Given the description of an element on the screen output the (x, y) to click on. 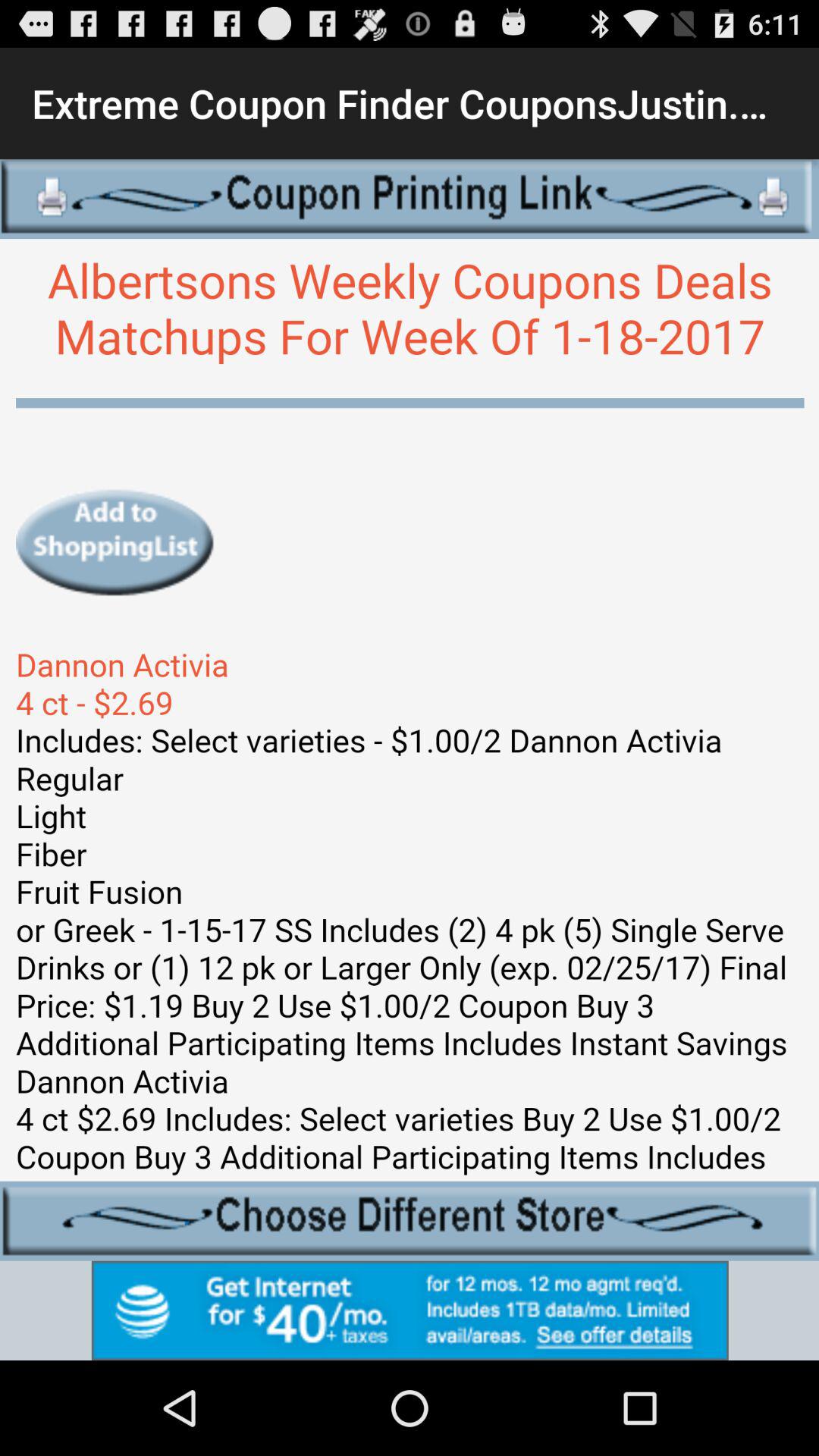
read coupon deal (409, 709)
